Given the description of an element on the screen output the (x, y) to click on. 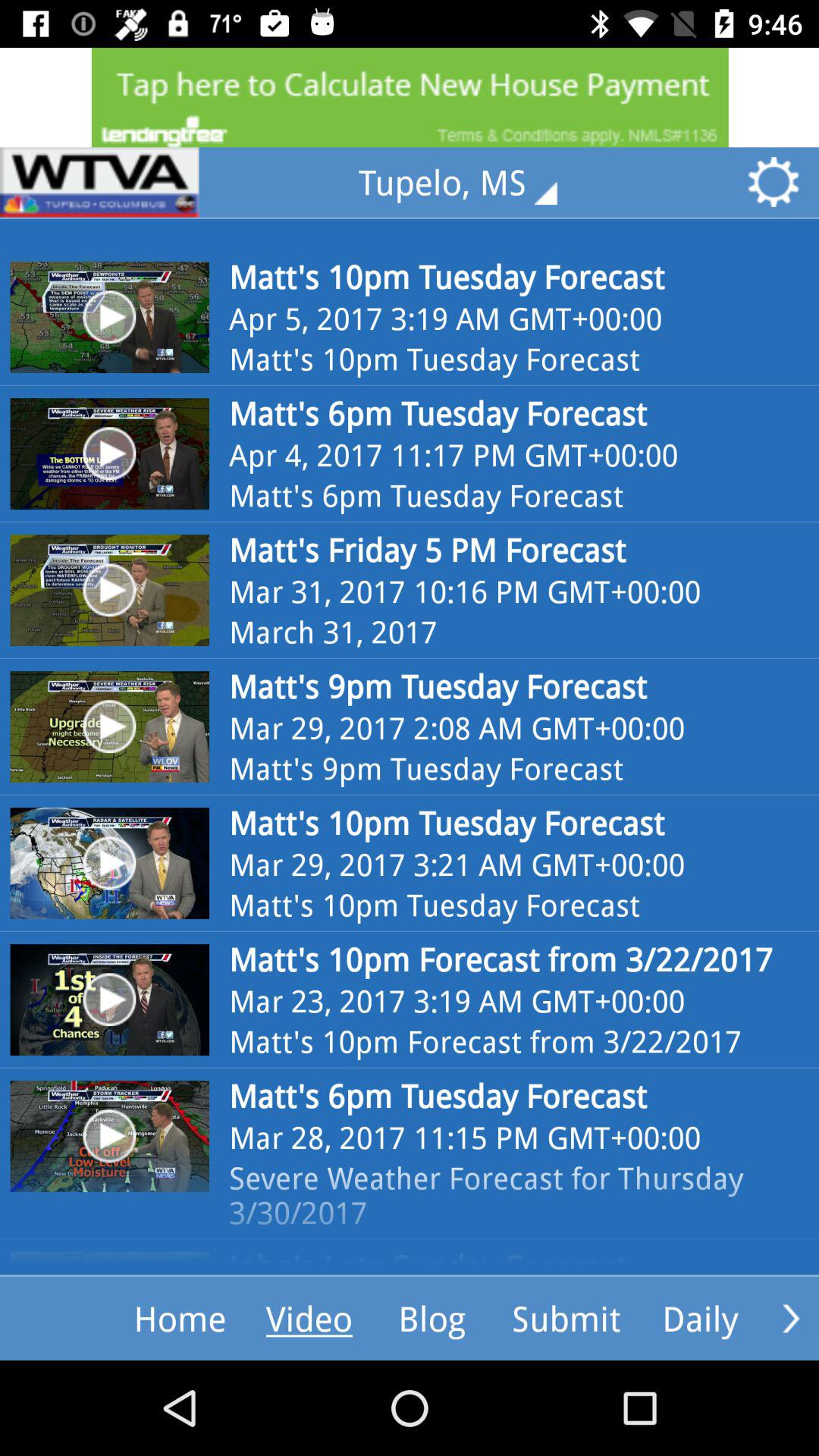
scroll until tupelo, ms item (468, 182)
